Given the description of an element on the screen output the (x, y) to click on. 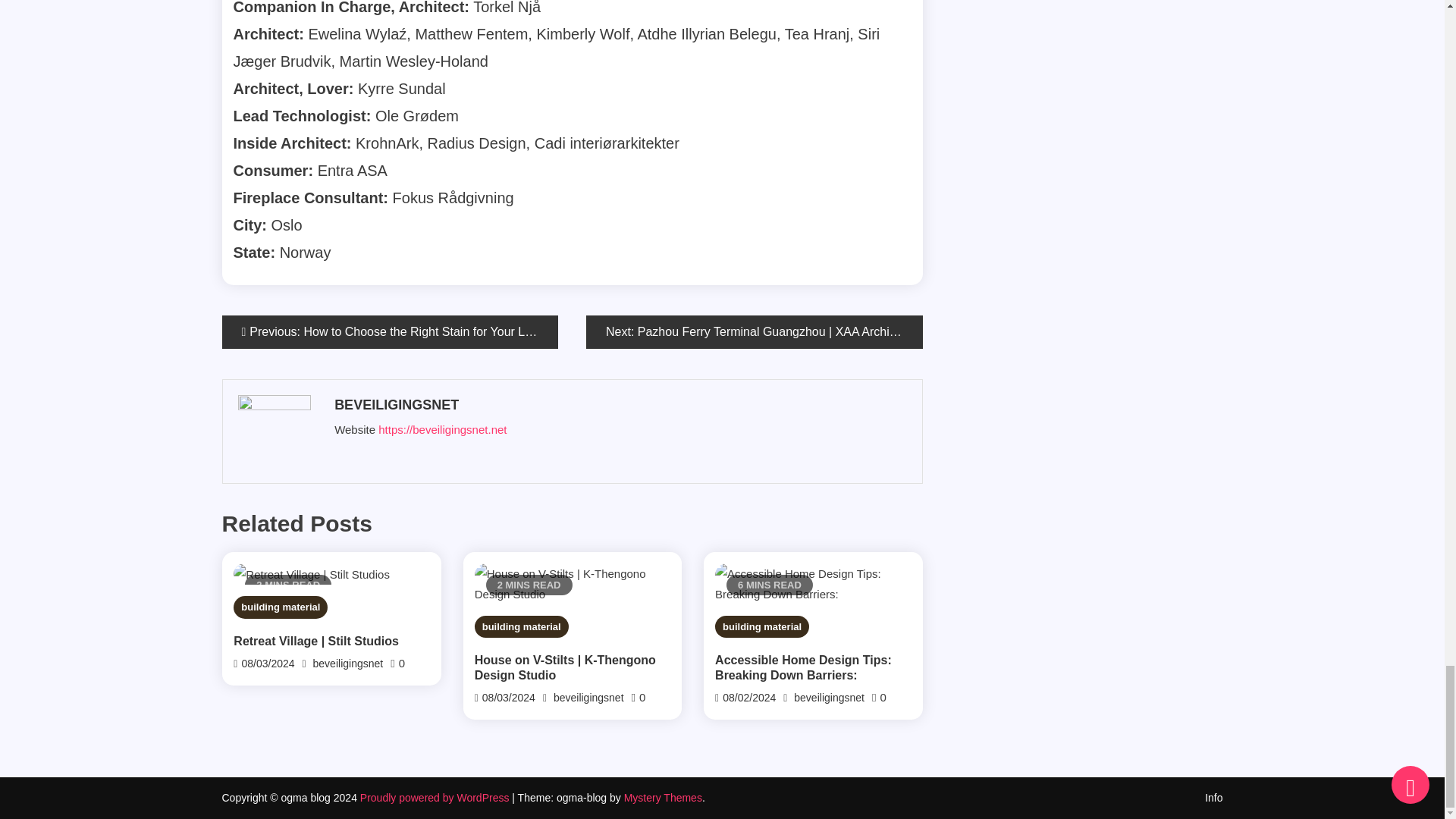
building material (279, 607)
Previous: How to Choose the Right Stain for Your Log Cabin (389, 331)
Posts by beveiligingsnet (618, 404)
beveiligingsnet (348, 663)
BEVEILIGINGSNET (618, 404)
